Given the description of an element on the screen output the (x, y) to click on. 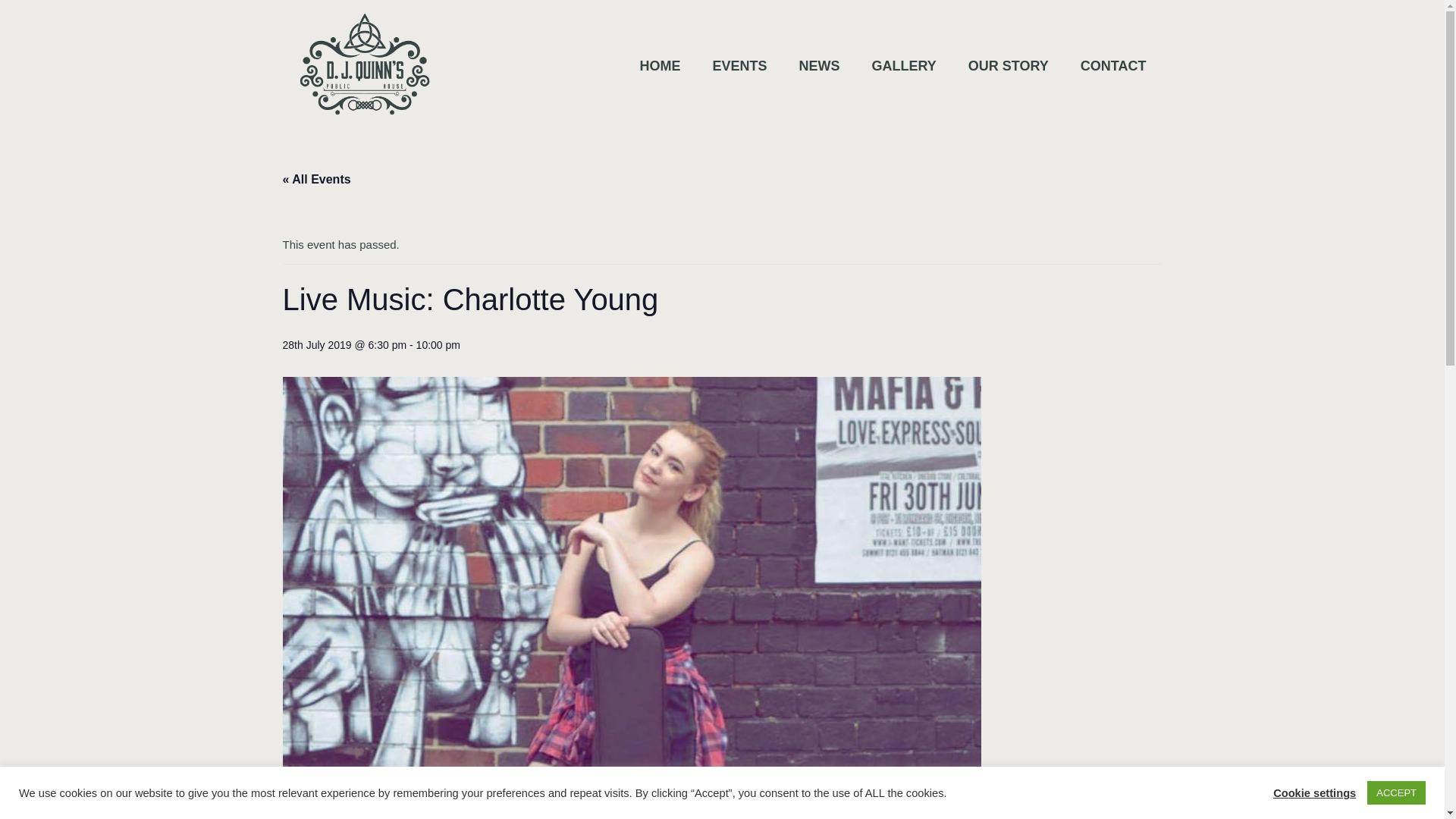
Cookie settings (1313, 792)
OUR STORY (1008, 65)
HOME (659, 65)
ACCEPT (1396, 792)
EVENTS (739, 65)
NEWS (819, 65)
CONTACT (1112, 65)
GALLERY (904, 65)
